Given the description of an element on the screen output the (x, y) to click on. 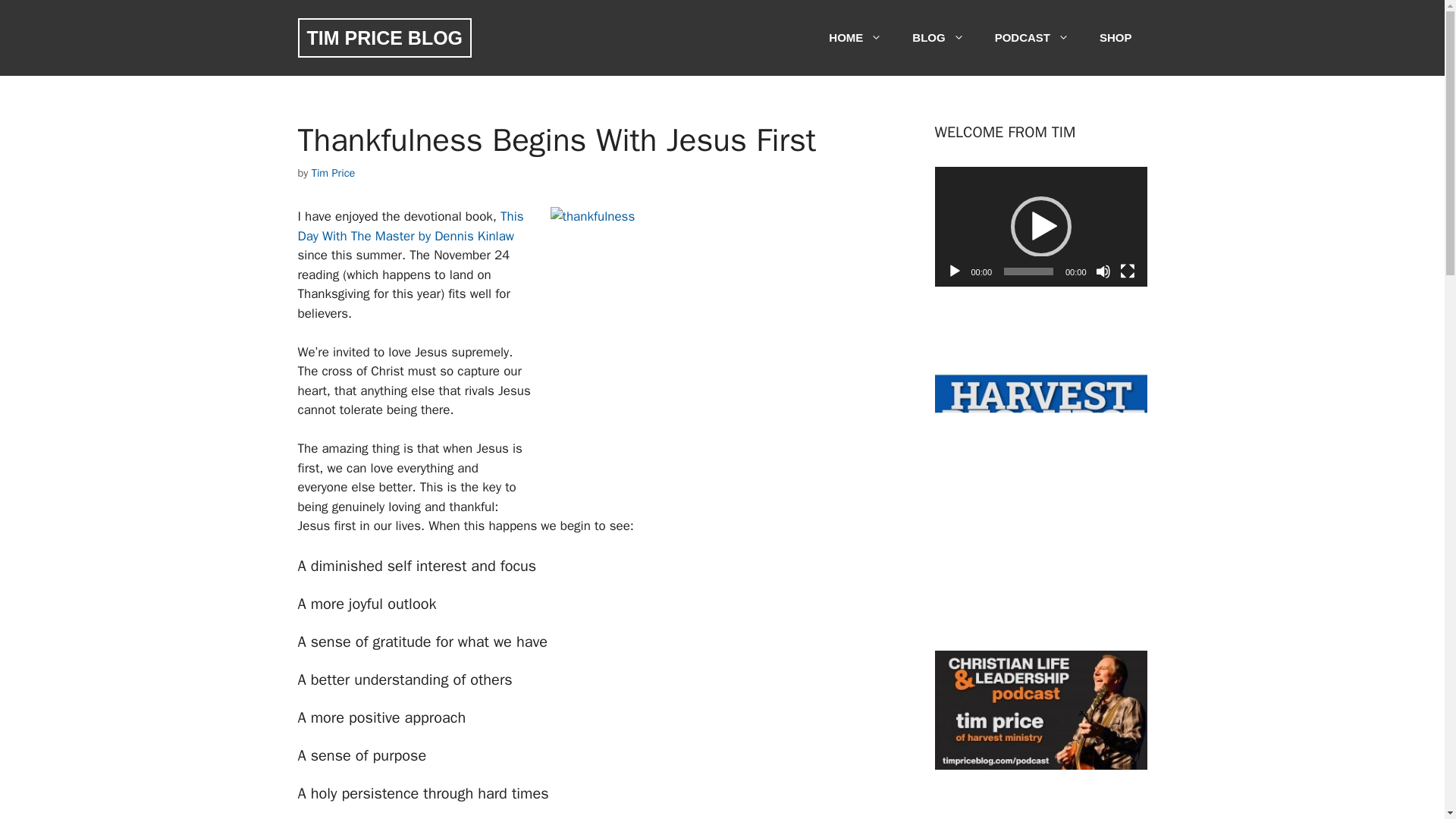
HOME (854, 37)
BLOG (937, 37)
TIM PRICE BLOG (384, 37)
View all posts by Tim Price (333, 172)
Play (953, 271)
Tim Price (333, 172)
This Day With The Master by Dennis Kinlaw (409, 226)
Fullscreen (1126, 271)
PODCAST (1031, 37)
SHOP (1115, 37)
Mute (1101, 271)
